Given the description of an element on the screen output the (x, y) to click on. 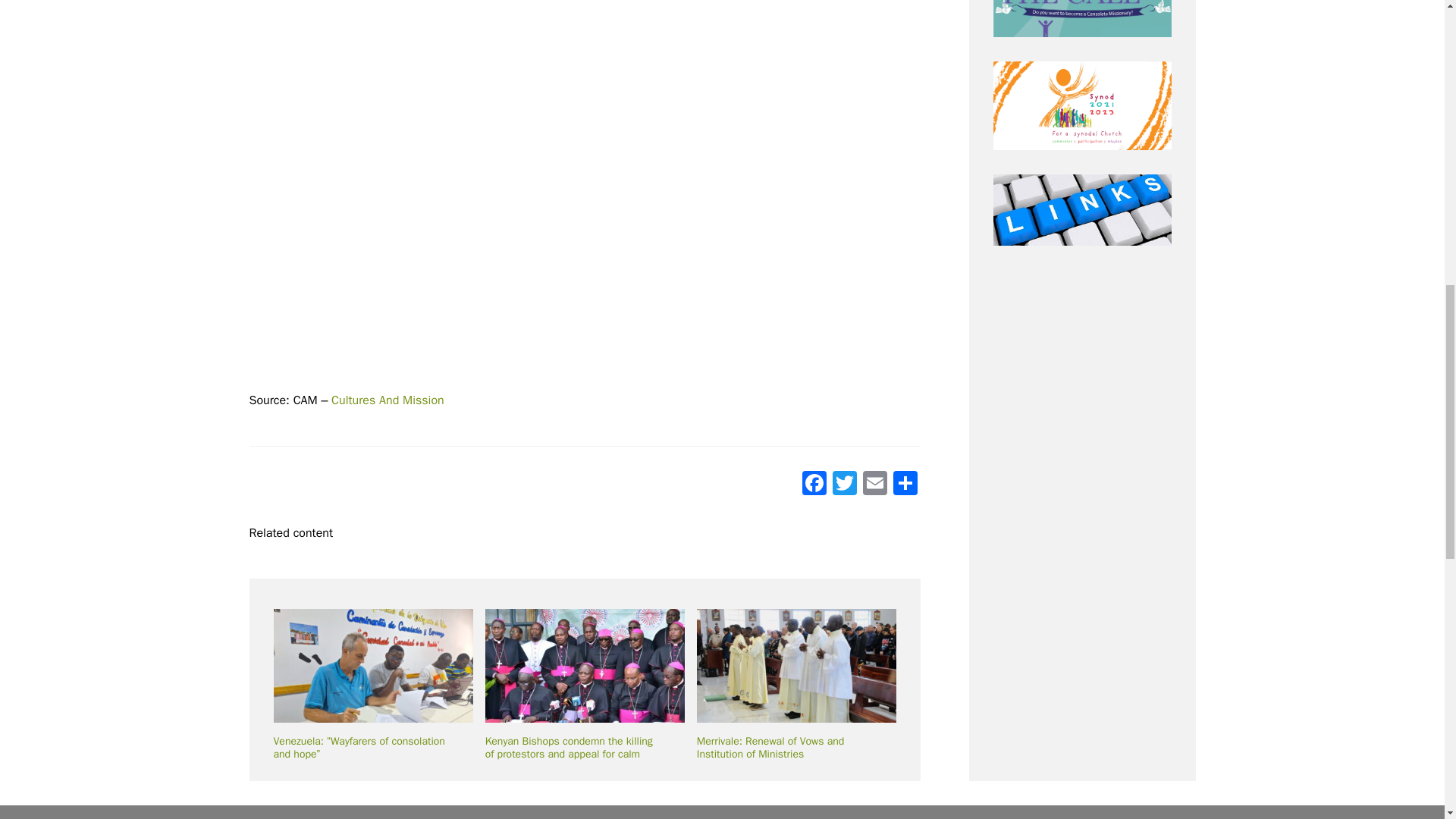
Twitter (844, 484)
Email (874, 484)
Facebook (814, 484)
